Given the description of an element on the screen output the (x, y) to click on. 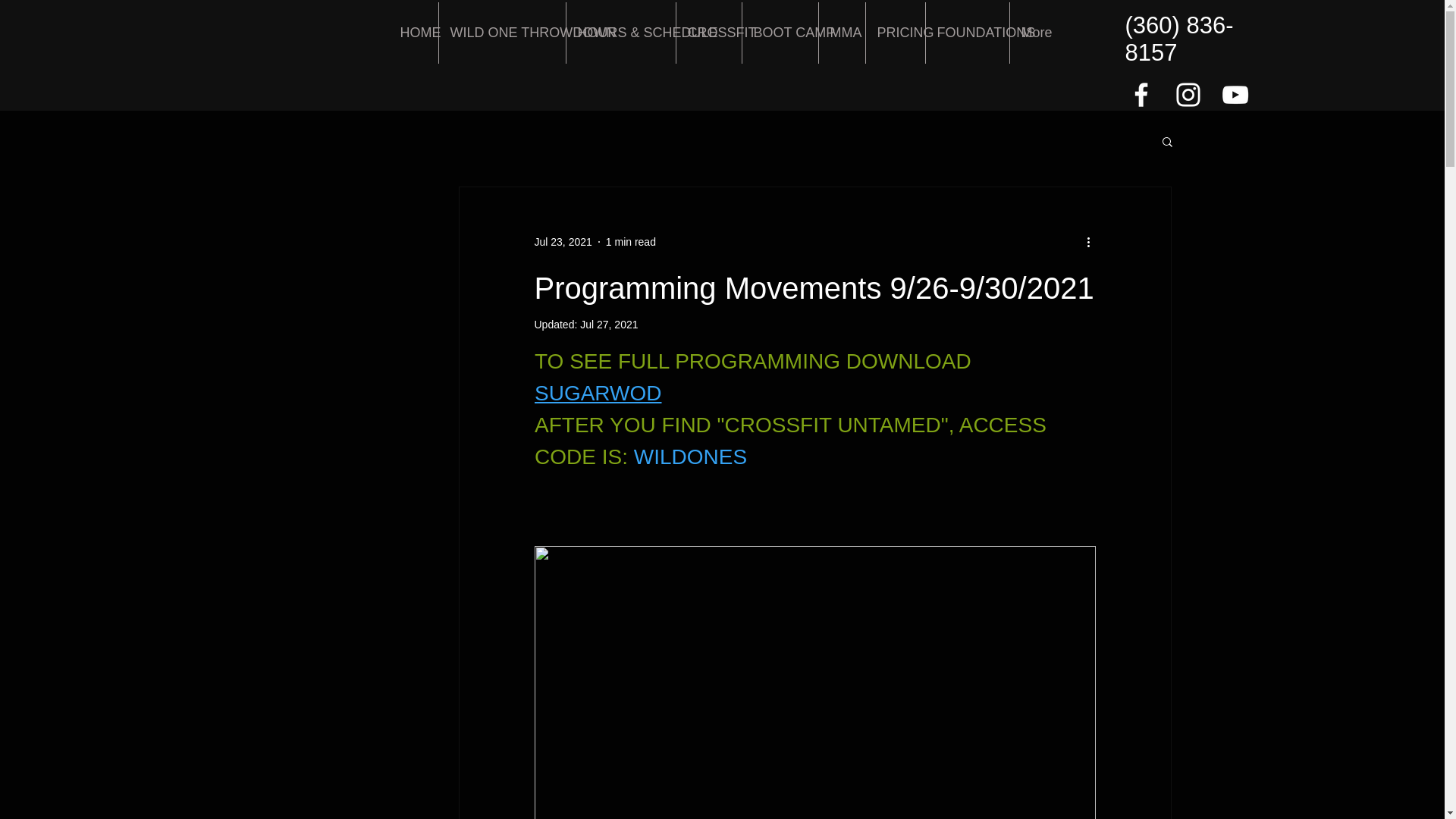
1 min read (630, 241)
CROSSFIT (709, 32)
WILD ONE THROWDOWN (501, 32)
MMA (841, 32)
FOUNDATIONS (966, 32)
Jul 23, 2021 (562, 241)
SUGARWOD (597, 392)
BOOT CAMP (778, 32)
HOME (413, 32)
PRICING (895, 32)
Jul 27, 2021 (608, 324)
